Given the description of an element on the screen output the (x, y) to click on. 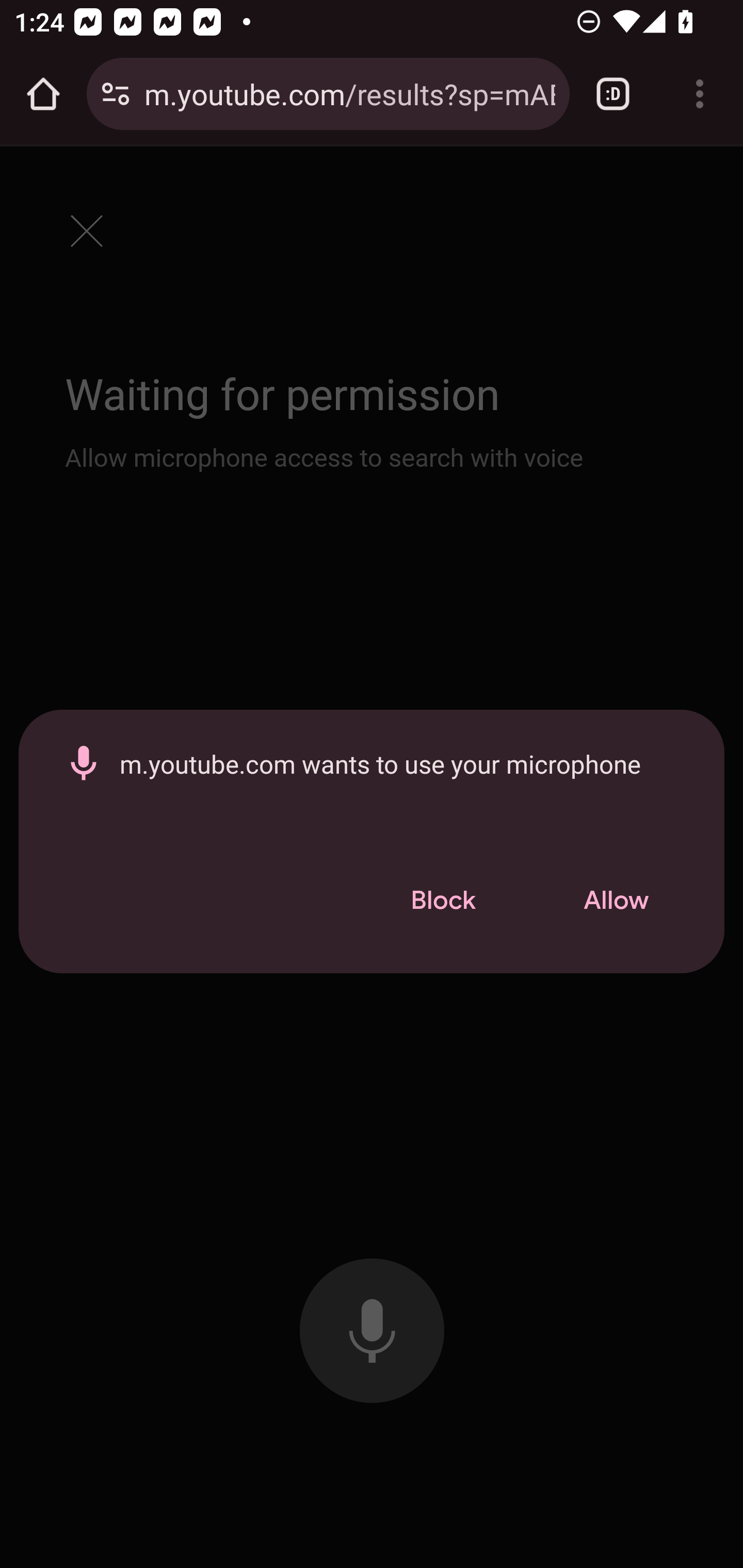
Open the home page (43, 93)
Connection is secure (115, 93)
Switch or close tabs (612, 93)
Customize and control Google Chrome (699, 93)
Block (442, 900)
Allow (615, 900)
